Given the description of an element on the screen output the (x, y) to click on. 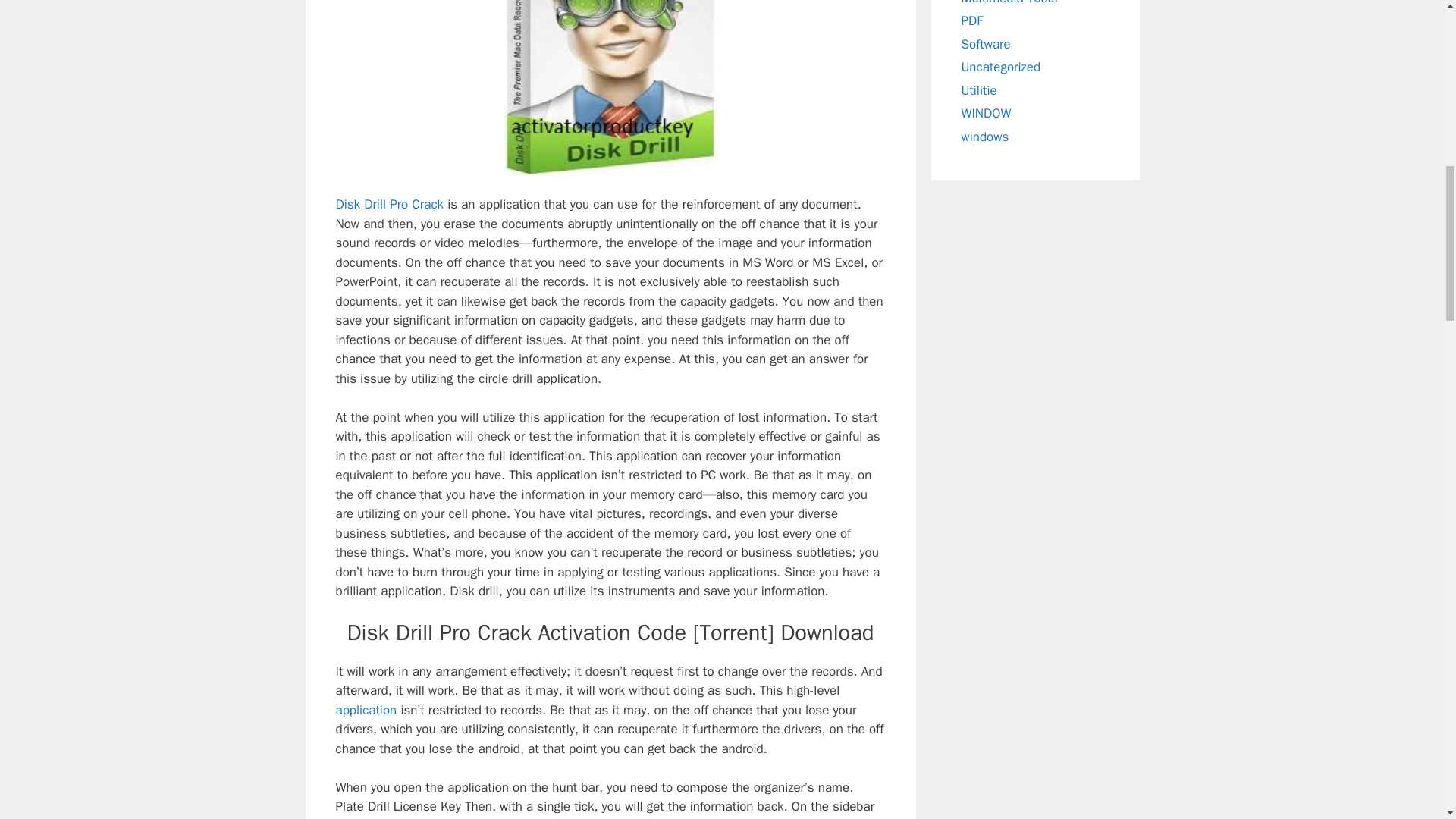
Disk Drill Pro Crack (389, 204)
application (365, 709)
